Given the description of an element on the screen output the (x, y) to click on. 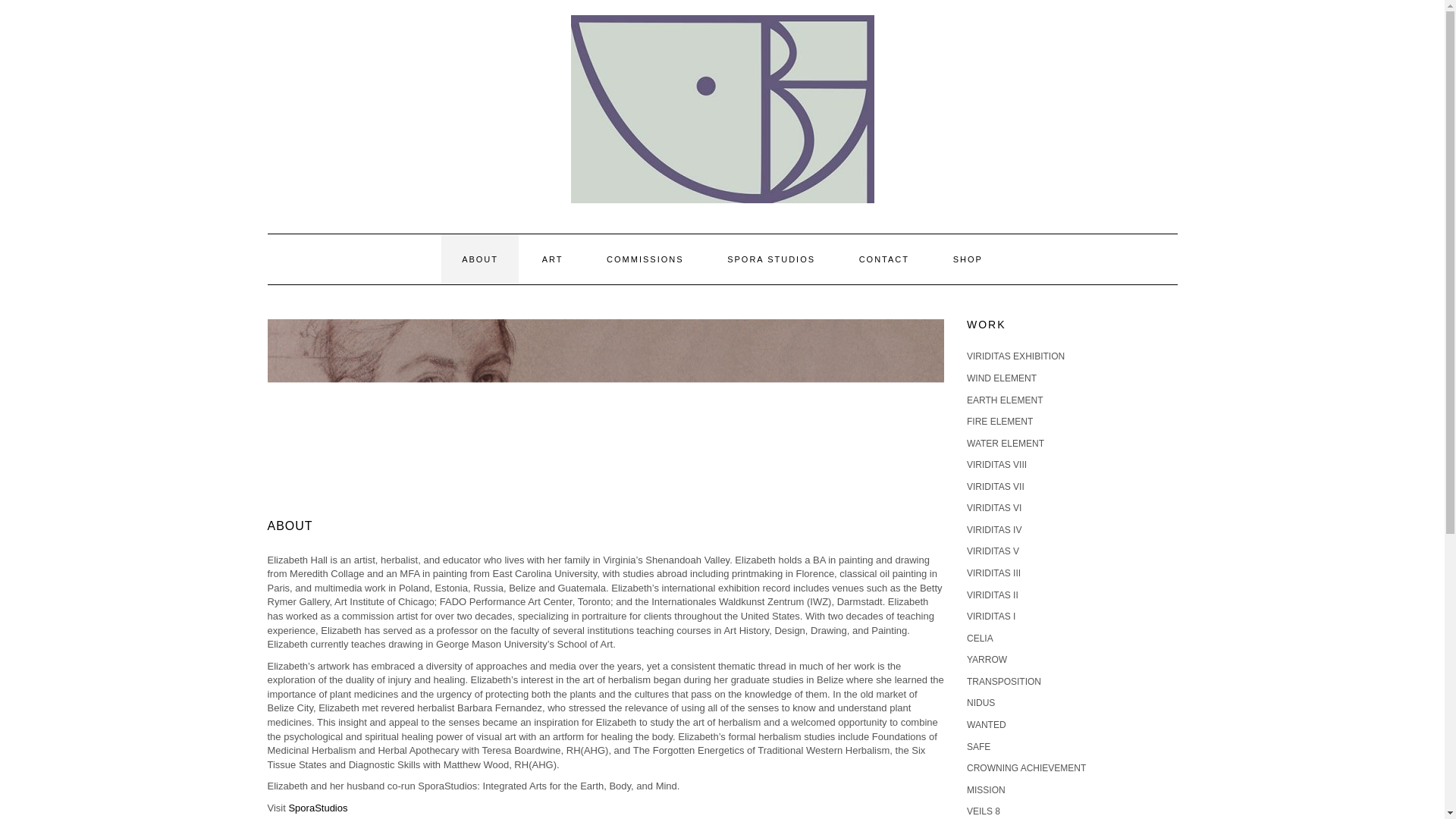
CROWNING ACHIEVEMENT (1026, 767)
WANTED (986, 724)
VIRIDITAS VIII (996, 464)
WATER ELEMENT (1004, 443)
MISSION (986, 789)
VEILS 8 (983, 810)
SHOP (968, 259)
CELIA (979, 638)
VIRIDITAS EXHIBITION (1015, 356)
SAFE (978, 747)
YARROW (986, 659)
ABOUT (479, 259)
VIRIDITAS V (992, 551)
SporaStudios (317, 808)
WIND ELEMENT (1001, 378)
